Given the description of an element on the screen output the (x, y) to click on. 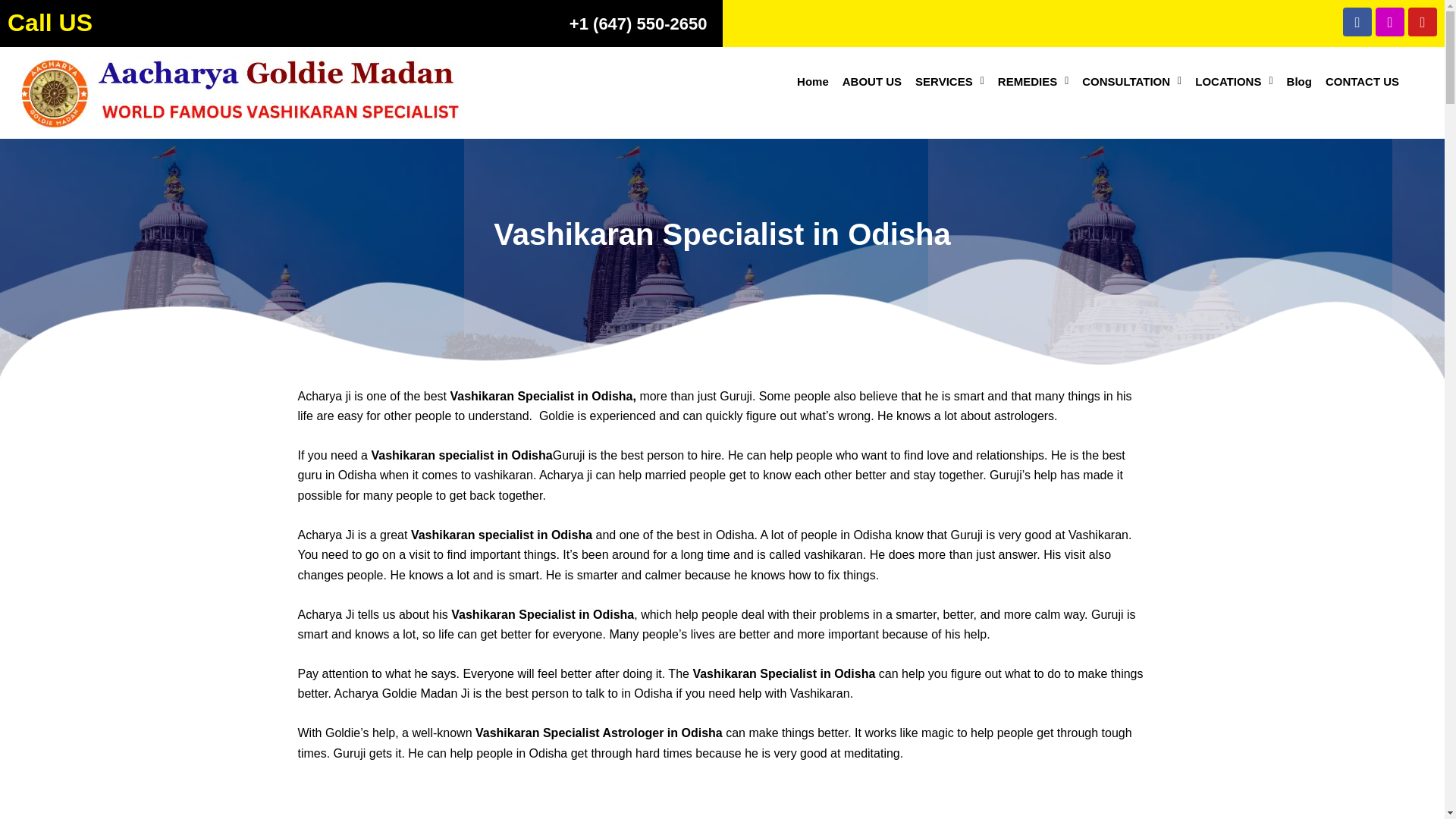
REMEDIES (1033, 81)
Home (812, 81)
ABOUT US (871, 81)
LOCATIONS (1233, 81)
Instagram (1390, 21)
Facebook (1356, 21)
CONSULTATION (1131, 81)
SERVICES (949, 81)
Youtube (1422, 21)
